Given the description of an element on the screen output the (x, y) to click on. 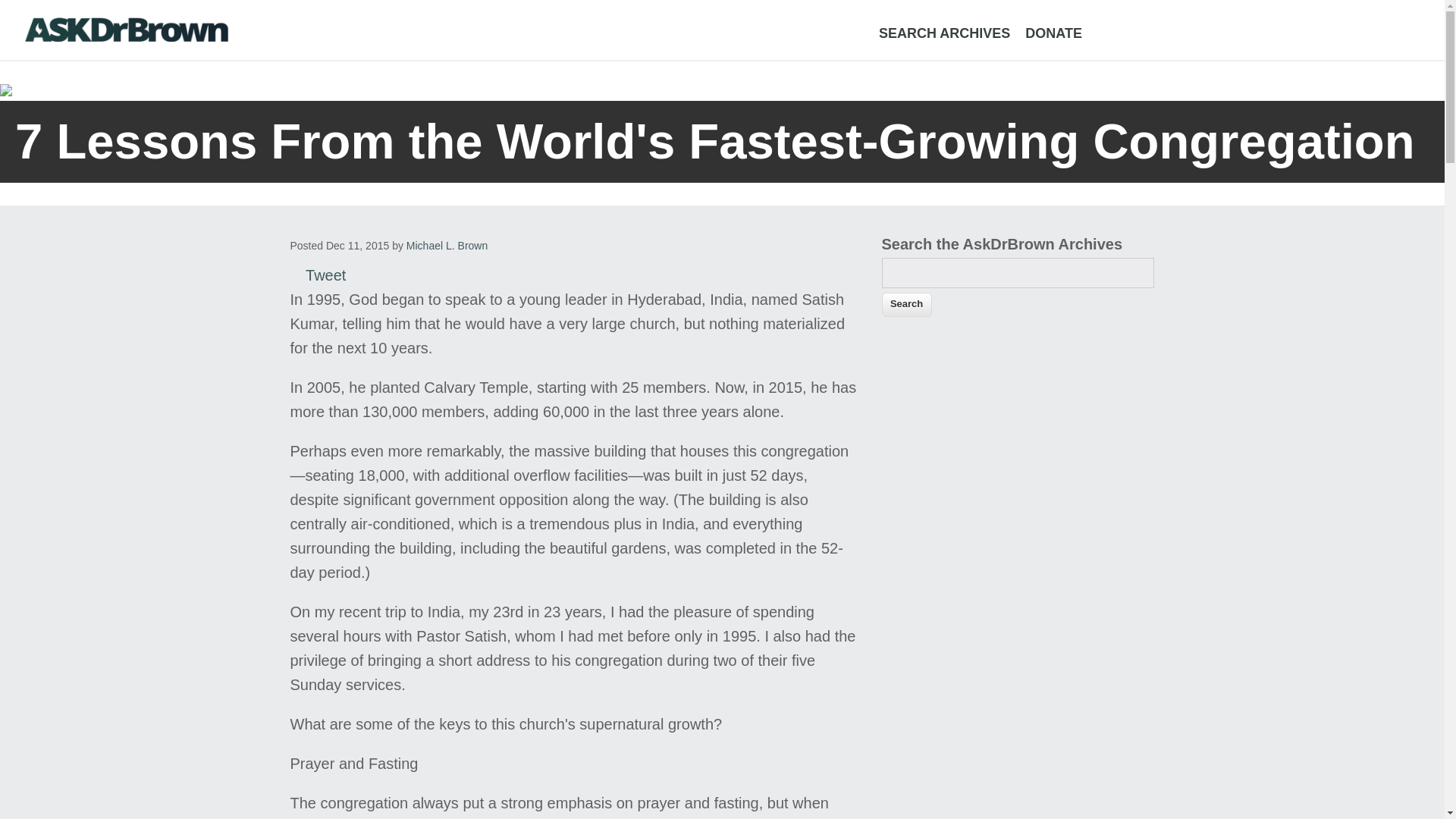
SEARCH ARCHIVES (943, 33)
Search (905, 304)
Enter the terms you wish to search for. (1017, 272)
Tweet (325, 274)
View user profile. (446, 245)
Michael L. Brown (446, 245)
DONATE (1053, 33)
Search (905, 304)
